Given the description of an element on the screen output the (x, y) to click on. 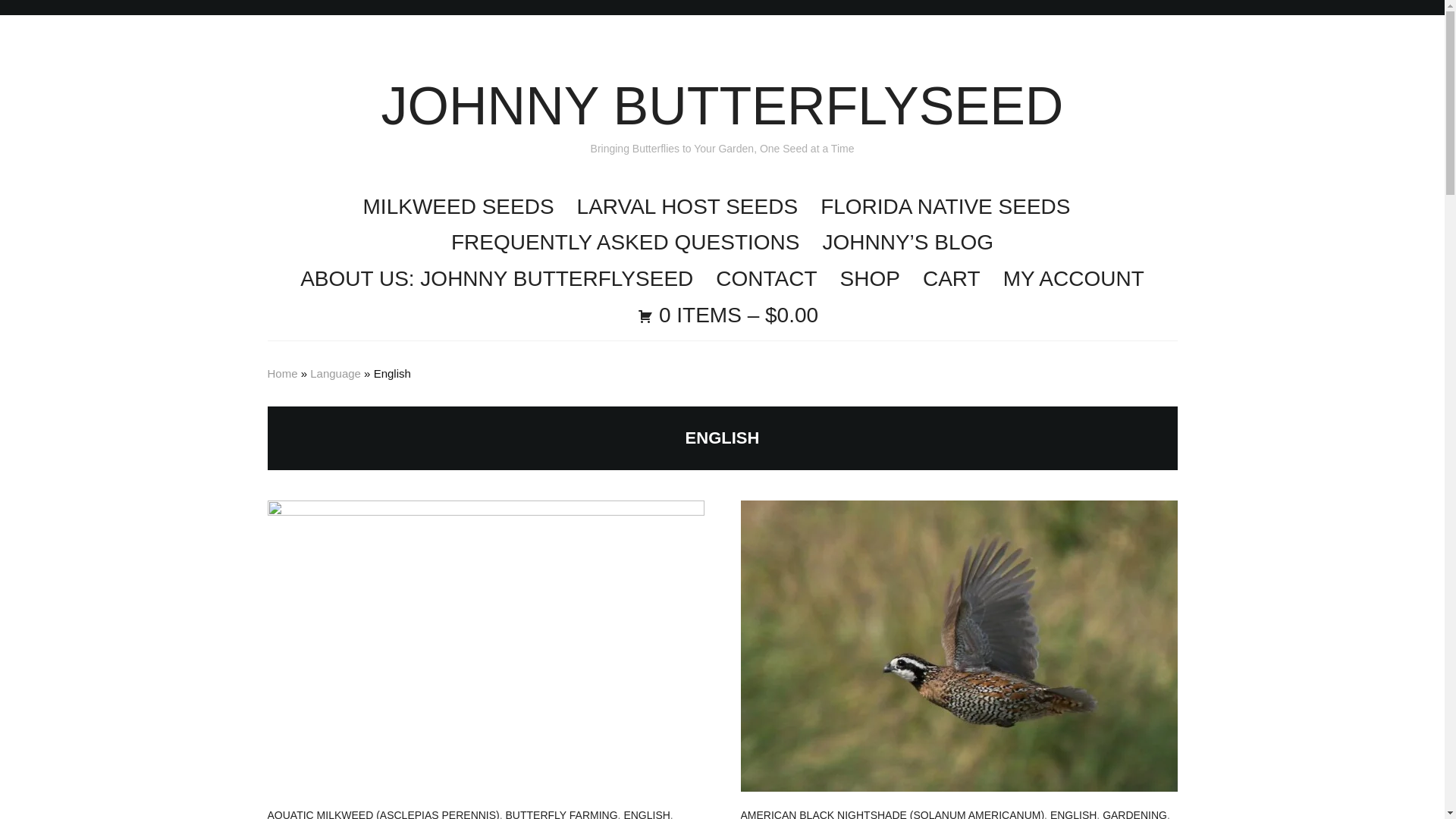
CONTACT (766, 279)
CART (951, 279)
LARVAL HOST SEEDS (686, 207)
Bringing Butterflies to Your Garden, One Seed at a Time (722, 105)
Language (335, 373)
ABOUT US: JOHNNY BUTTERFLYSEED (496, 279)
FREQUENTLY ASKED QUESTIONS (625, 242)
MILKWEED SEEDS (458, 207)
SHOP (869, 279)
Home (281, 373)
ENGLISH (646, 812)
MY ACCOUNT (1073, 279)
BUTTERFLY FARMING (561, 812)
FLORIDA NATIVE SEEDS (945, 207)
JOHNNY BUTTERFLYSEED (722, 105)
